Given the description of an element on the screen output the (x, y) to click on. 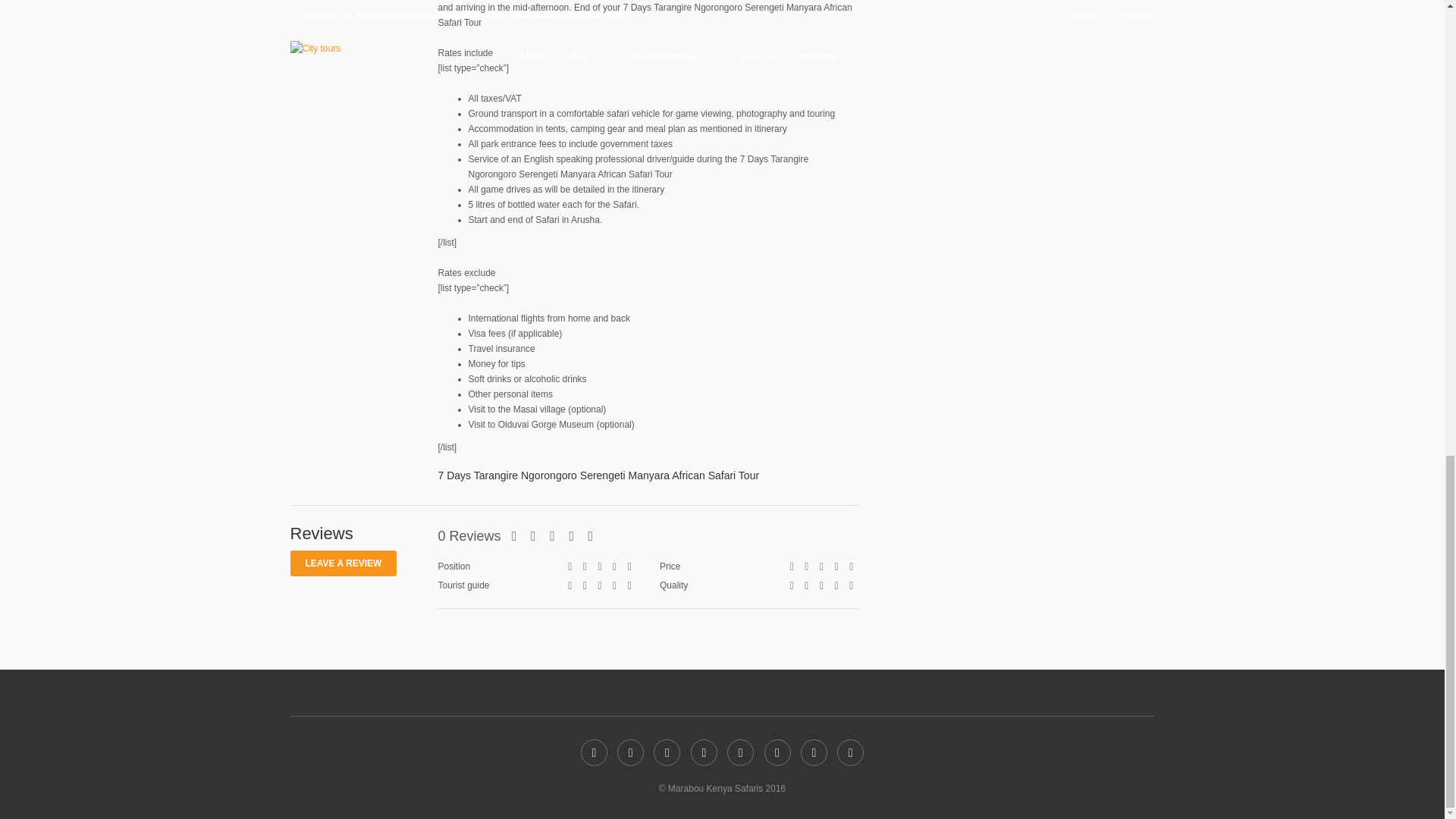
LEAVE A REVIEW (342, 563)
